Given the description of an element on the screen output the (x, y) to click on. 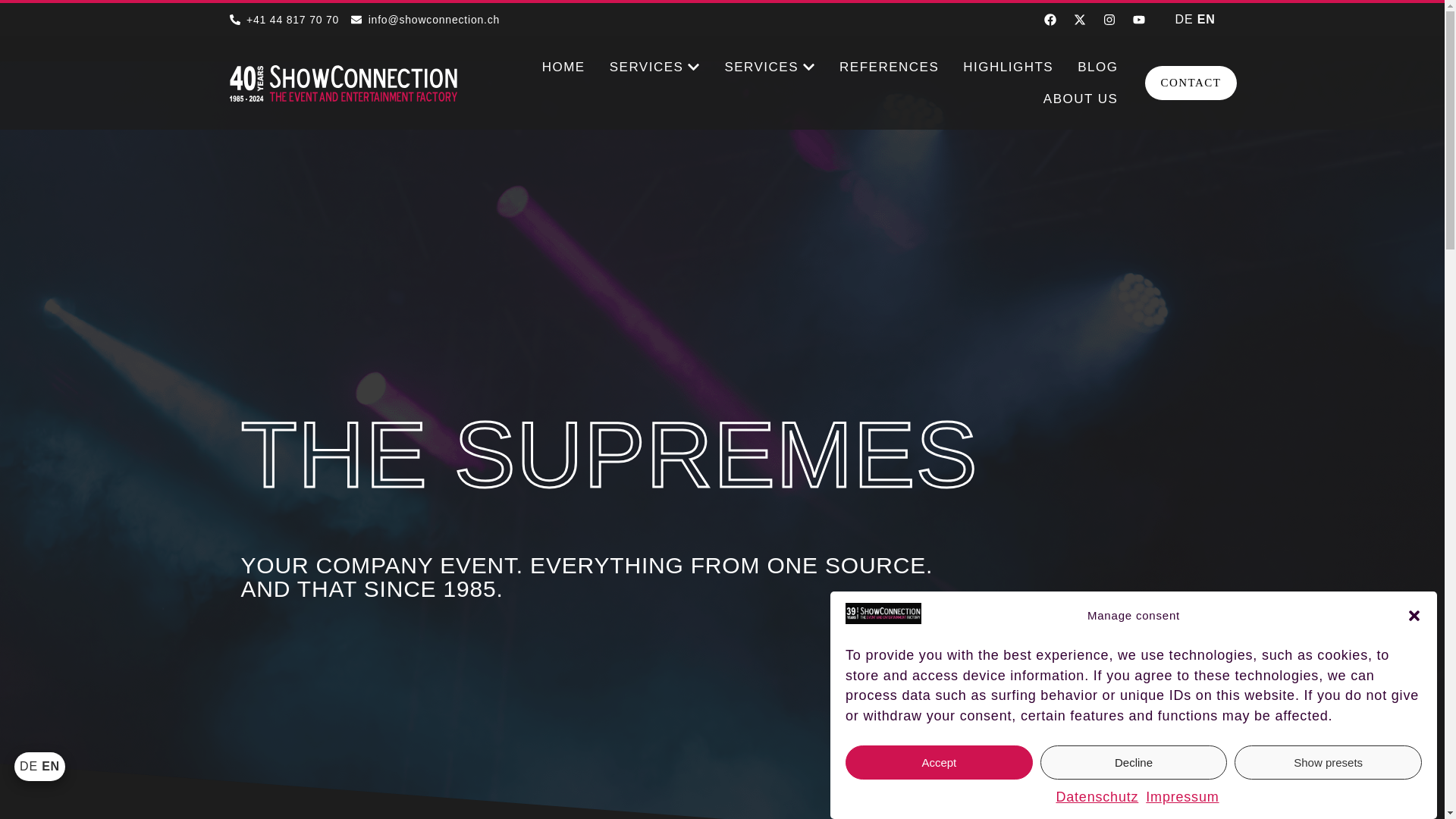
English (1205, 19)
BLOG (1097, 66)
English (50, 766)
SERVICES (760, 66)
EN (1205, 19)
SERVICES (647, 66)
HOME (563, 66)
German (28, 766)
ABOUT US (1080, 98)
REFERENCES (889, 66)
DE (1183, 19)
German (1183, 19)
HIGHLIGHTS (1007, 66)
